Given the description of an element on the screen output the (x, y) to click on. 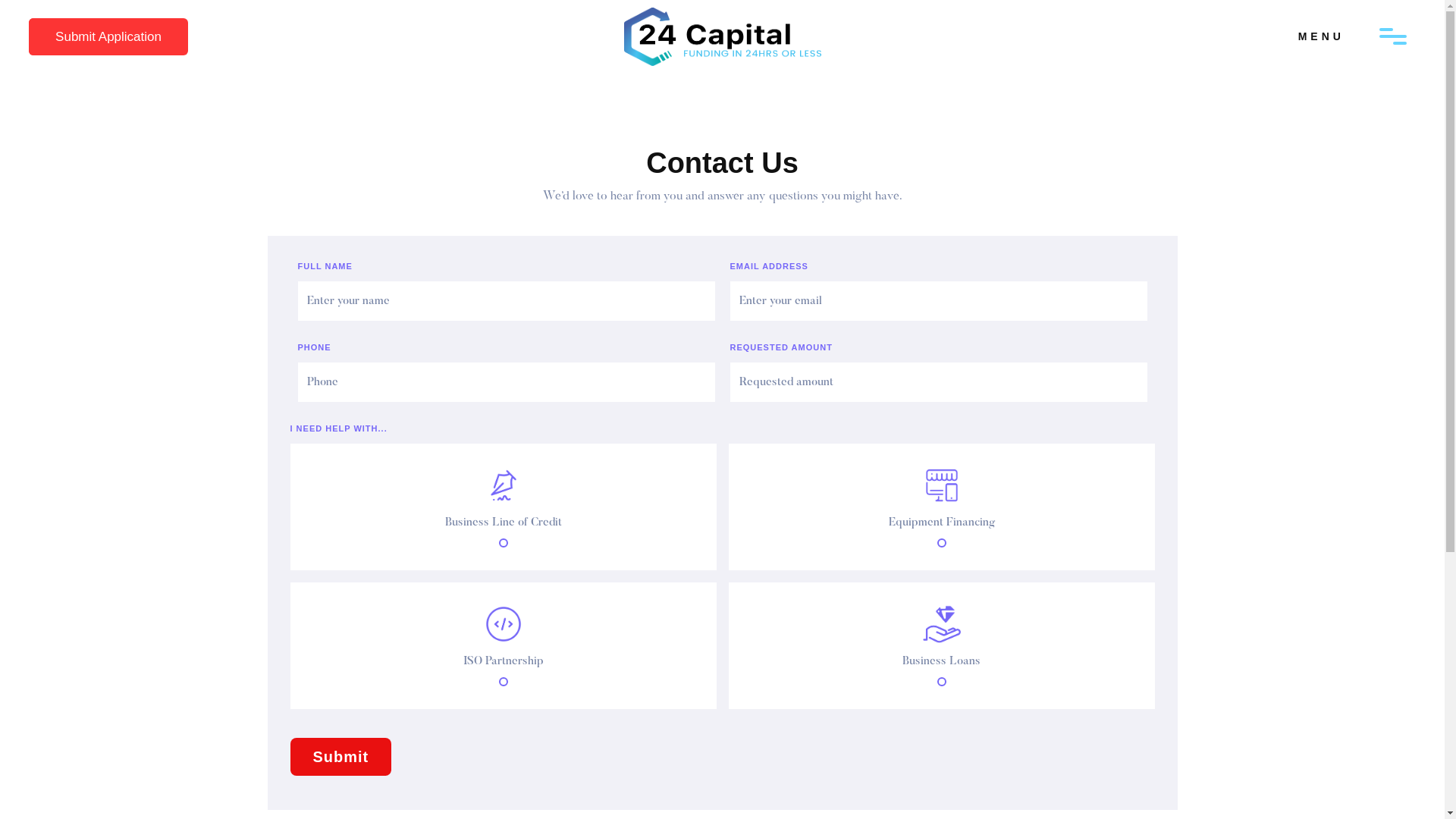
Submit Element type: text (340, 756)
Submit Application Element type: text (108, 36)
Apply Now Element type: text (85, 36)
